Given the description of an element on the screen output the (x, y) to click on. 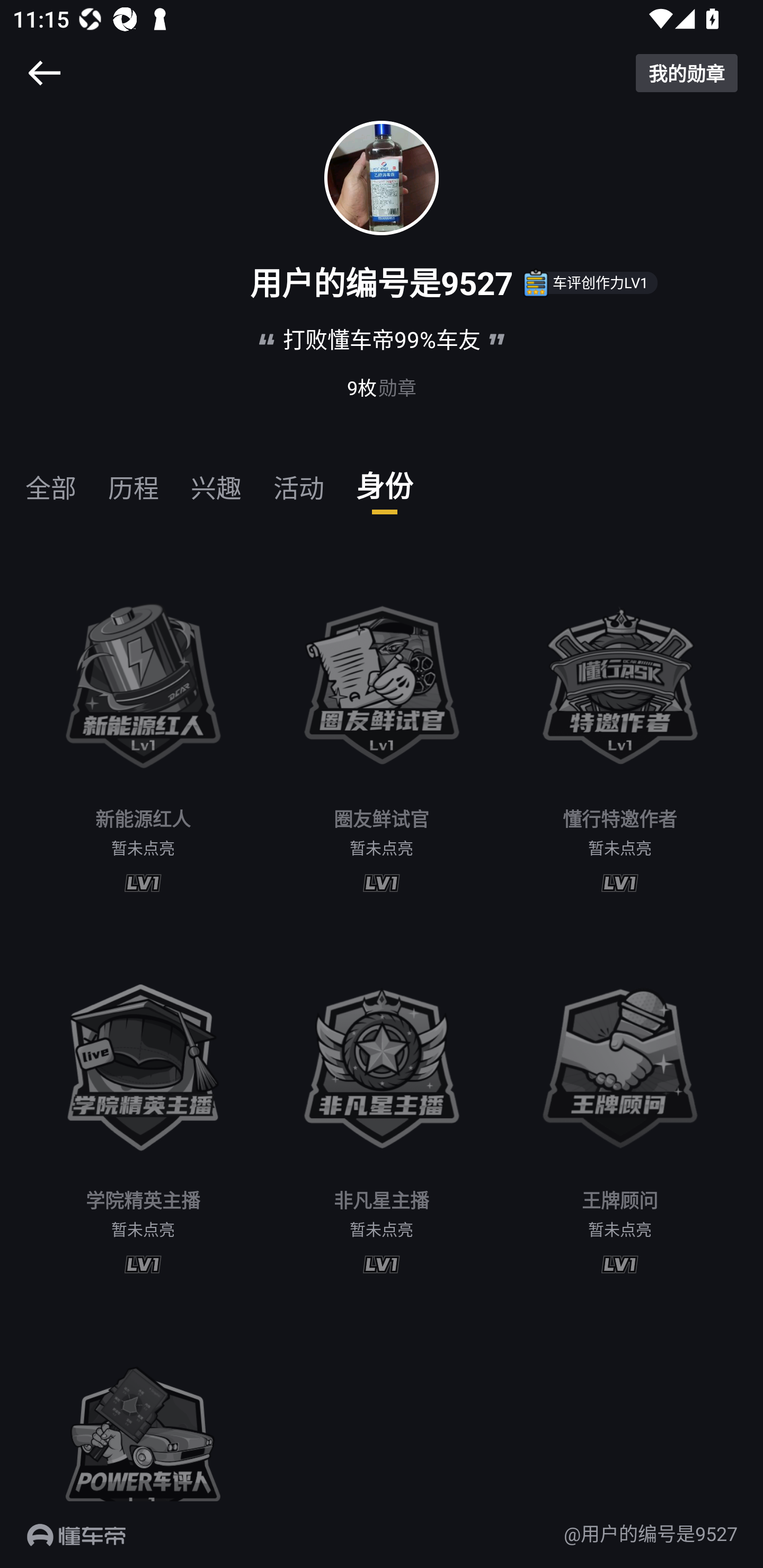
 (44, 72)
我的勋章 (686, 72)
全部 (50, 479)
历程 (133, 479)
兴趣 (215, 479)
活动 (298, 479)
身份 (384, 479)
新能源红人 暂未点亮 (142, 731)
圈友鲜试官 暂未点亮 (381, 731)
懂行特邀作者 暂未点亮 (619, 731)
学院精英主播 暂未点亮 (142, 1113)
非凡星主播 暂未点亮 (381, 1113)
王牌顾问 暂未点亮 (619, 1113)
